Given the description of an element on the screen output the (x, y) to click on. 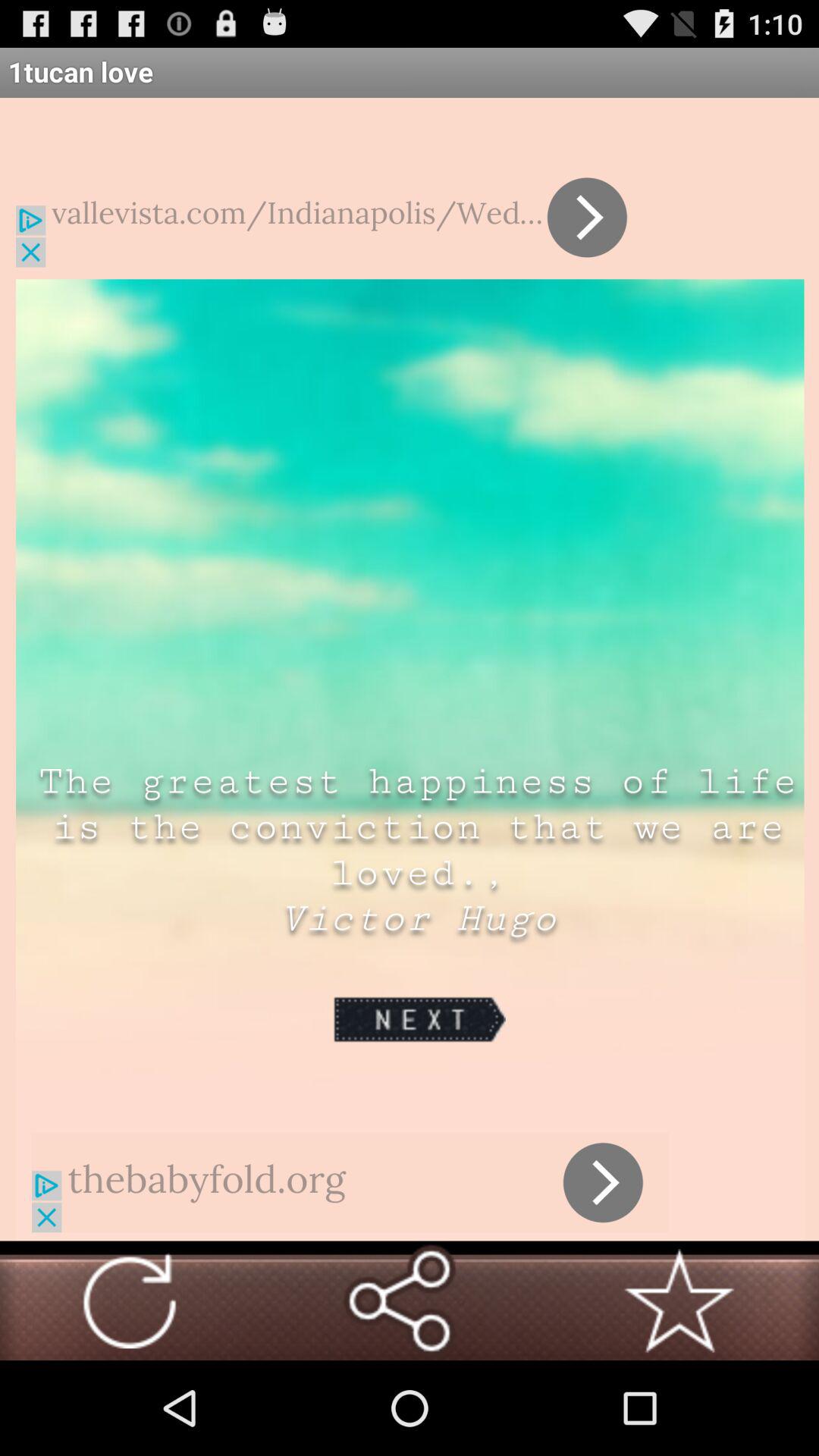
replay button (129, 1300)
